Given the description of an element on the screen output the (x, y) to click on. 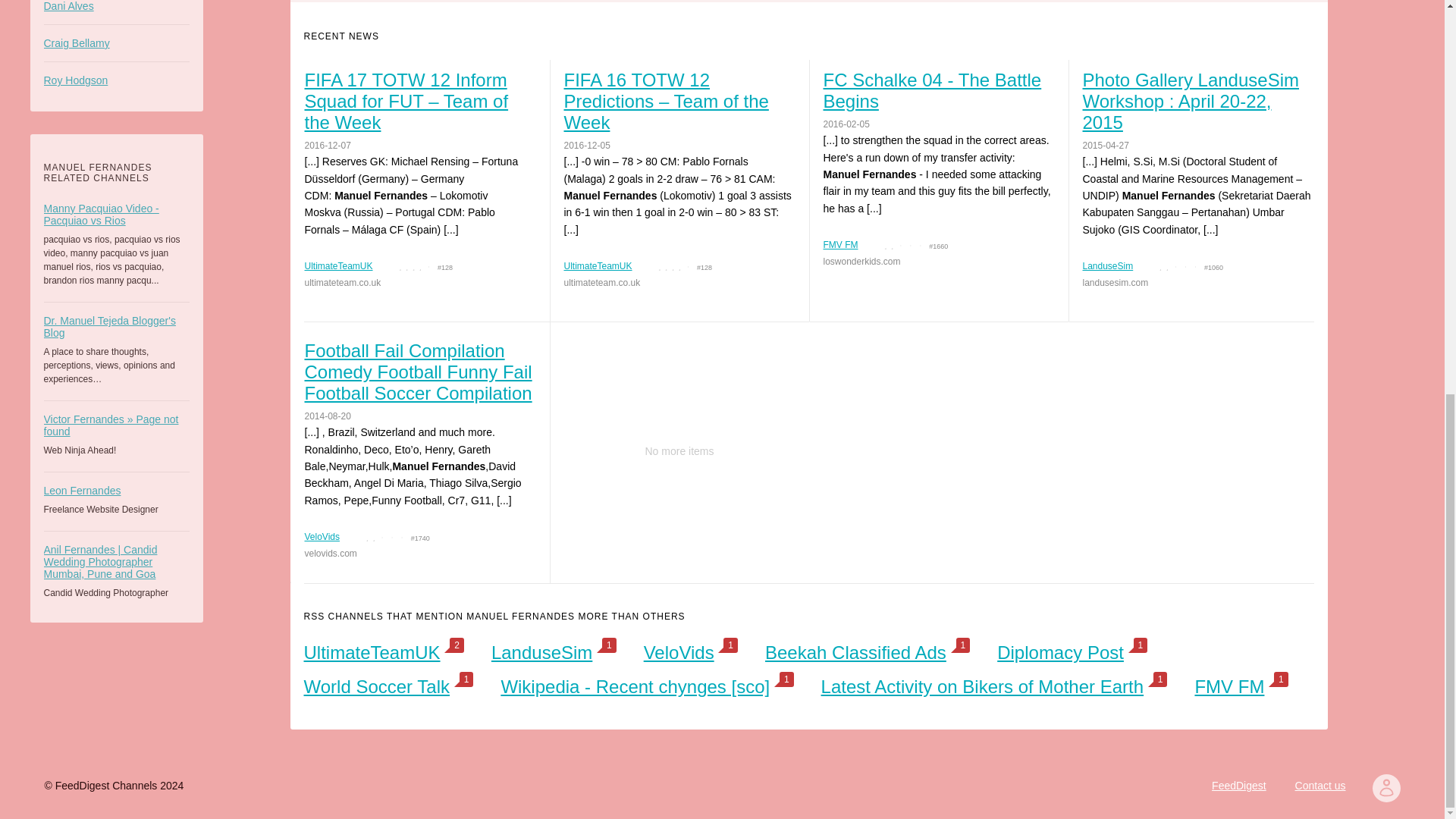
LanduseSim (1108, 266)
Photo Gallery LanduseSim Workshop : April 20-22, 2015 (1197, 101)
UltimateTeamUK (597, 266)
FMV FM (841, 244)
FC Schalke 04 - The Battle Begins (938, 90)
UltimateTeamUK (338, 266)
